Given the description of an element on the screen output the (x, y) to click on. 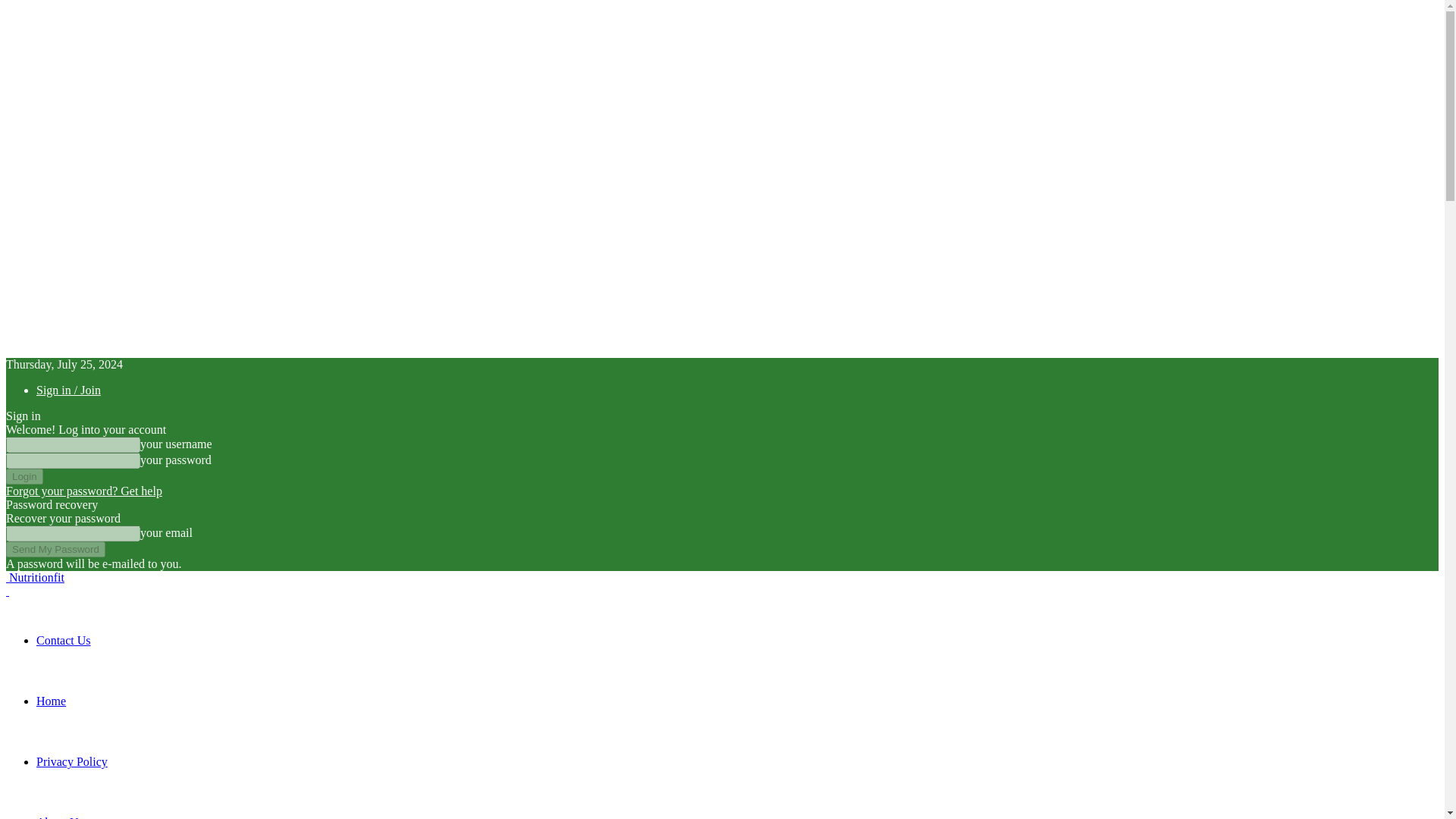
Login (24, 476)
Send My Password (54, 549)
Forgot your password? Get help (83, 490)
Nutritionfit (34, 576)
About Us (59, 817)
Home (50, 700)
Contact Us (63, 640)
Privacy Policy (71, 761)
